Given the description of an element on the screen output the (x, y) to click on. 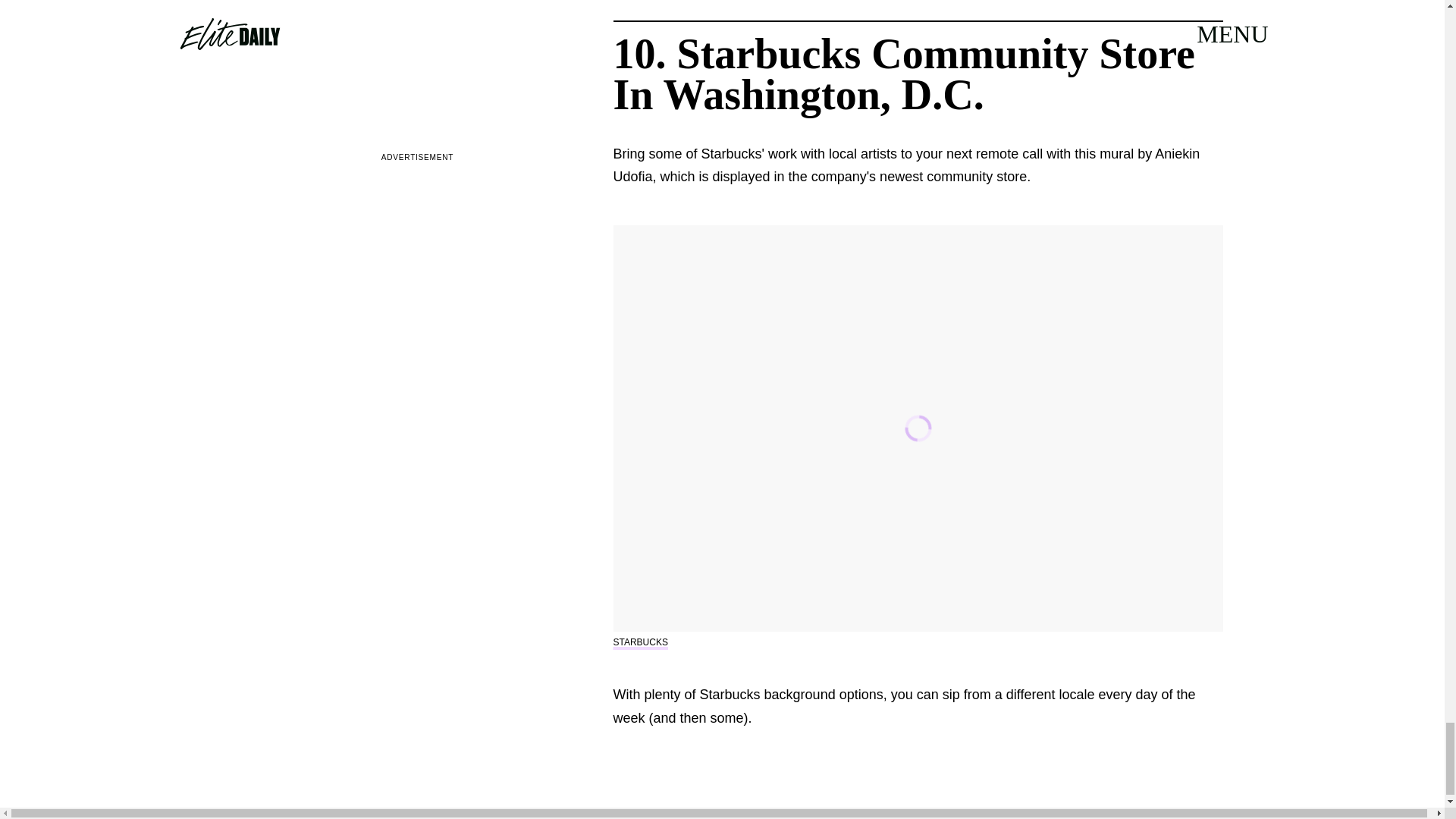
STARBUCKS (639, 642)
